Given the description of an element on the screen output the (x, y) to click on. 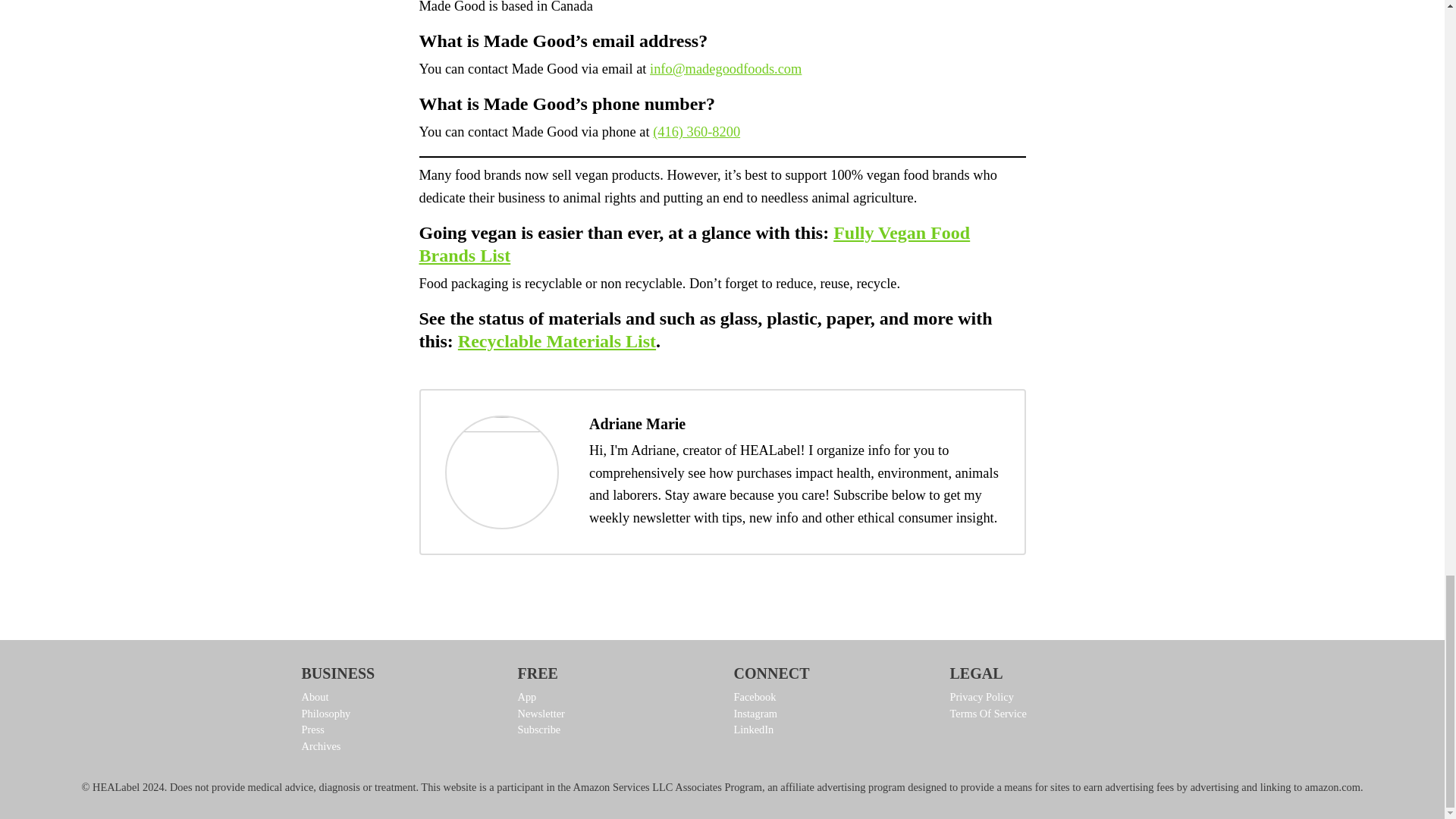
About (398, 697)
Facebook (830, 697)
App (613, 697)
Fully Vegan Food Brands List (694, 243)
Recyclable Materials List (557, 341)
LinkedIn (830, 729)
Archives (398, 746)
Subscribe (613, 729)
Press (398, 729)
Instagram (830, 713)
